Given the description of an element on the screen output the (x, y) to click on. 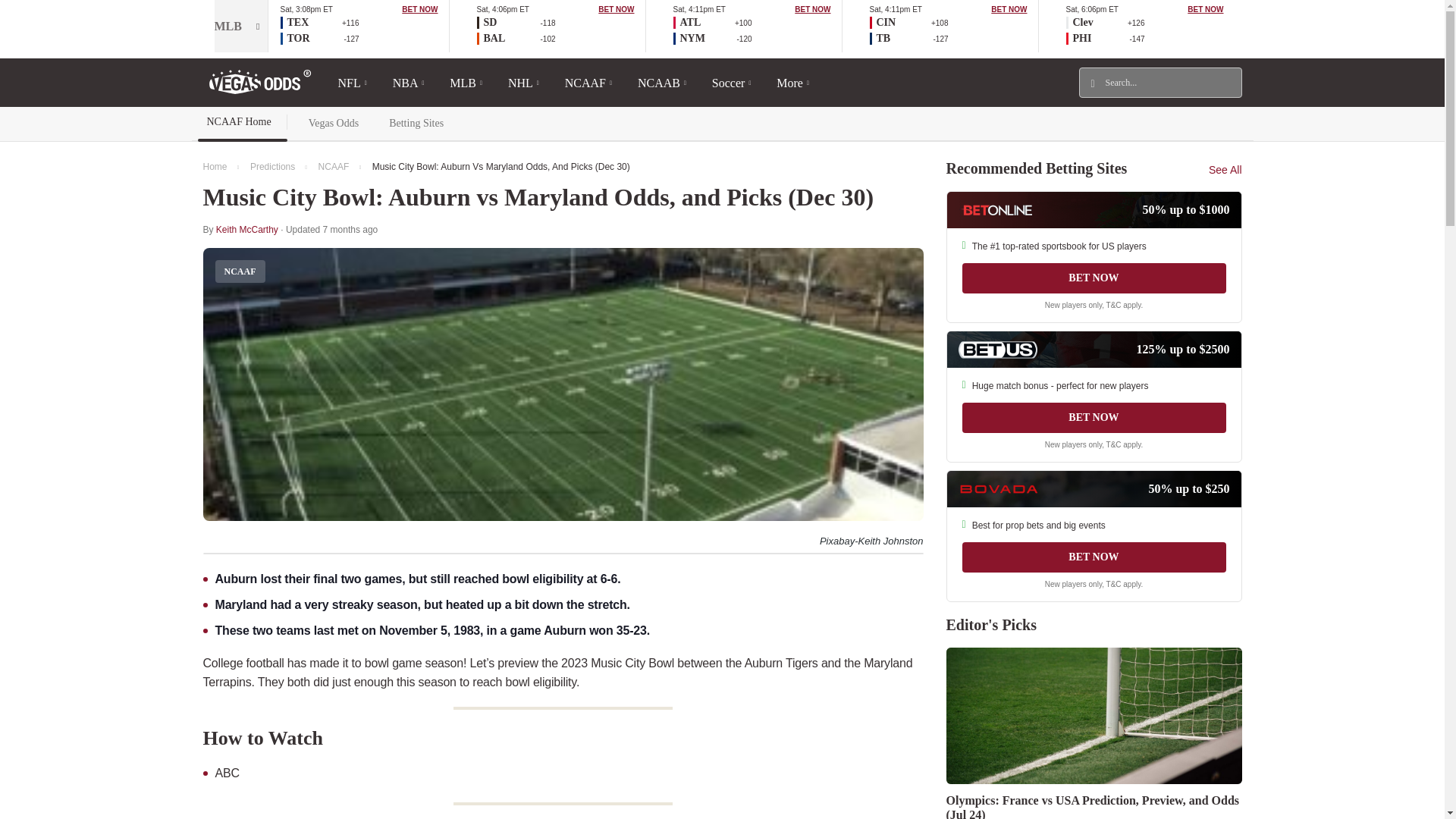
BET NOW (811, 8)
BET NOW (615, 8)
BET NOW (419, 8)
NFL (352, 82)
BET NOW (1008, 8)
BET NOW (1205, 8)
Posts by Keith McCarthy (246, 229)
